Given the description of an element on the screen output the (x, y) to click on. 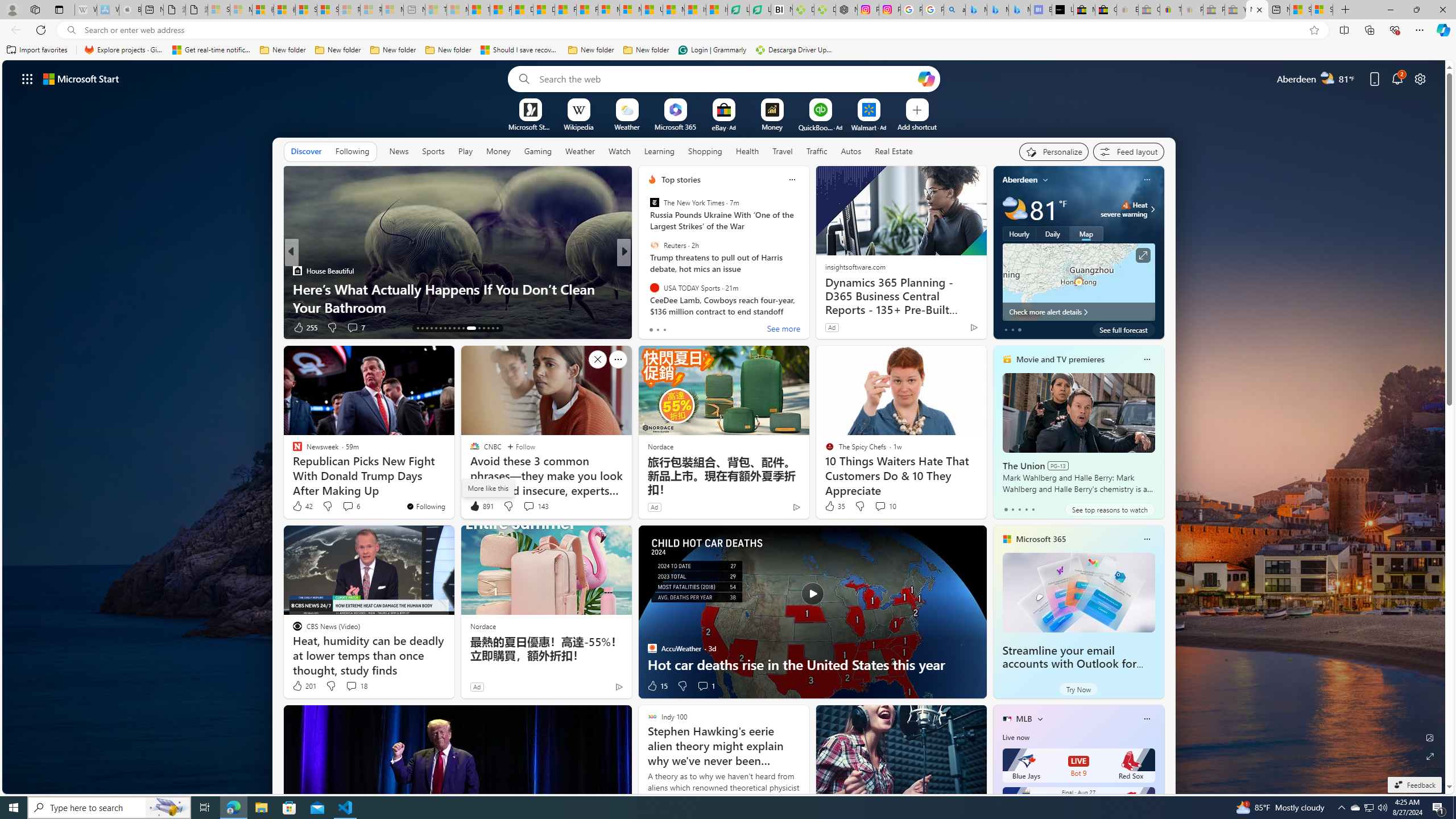
Hey She Thrives (647, 288)
View comments 66 Comment (6, 327)
View comments 6 Comment (350, 505)
The New York Times (654, 202)
Business Insider (647, 270)
Drinking tea every day is proven to delay biological aging (543, 9)
AutomationID: tab-16 (431, 328)
